Given the description of an element on the screen output the (x, y) to click on. 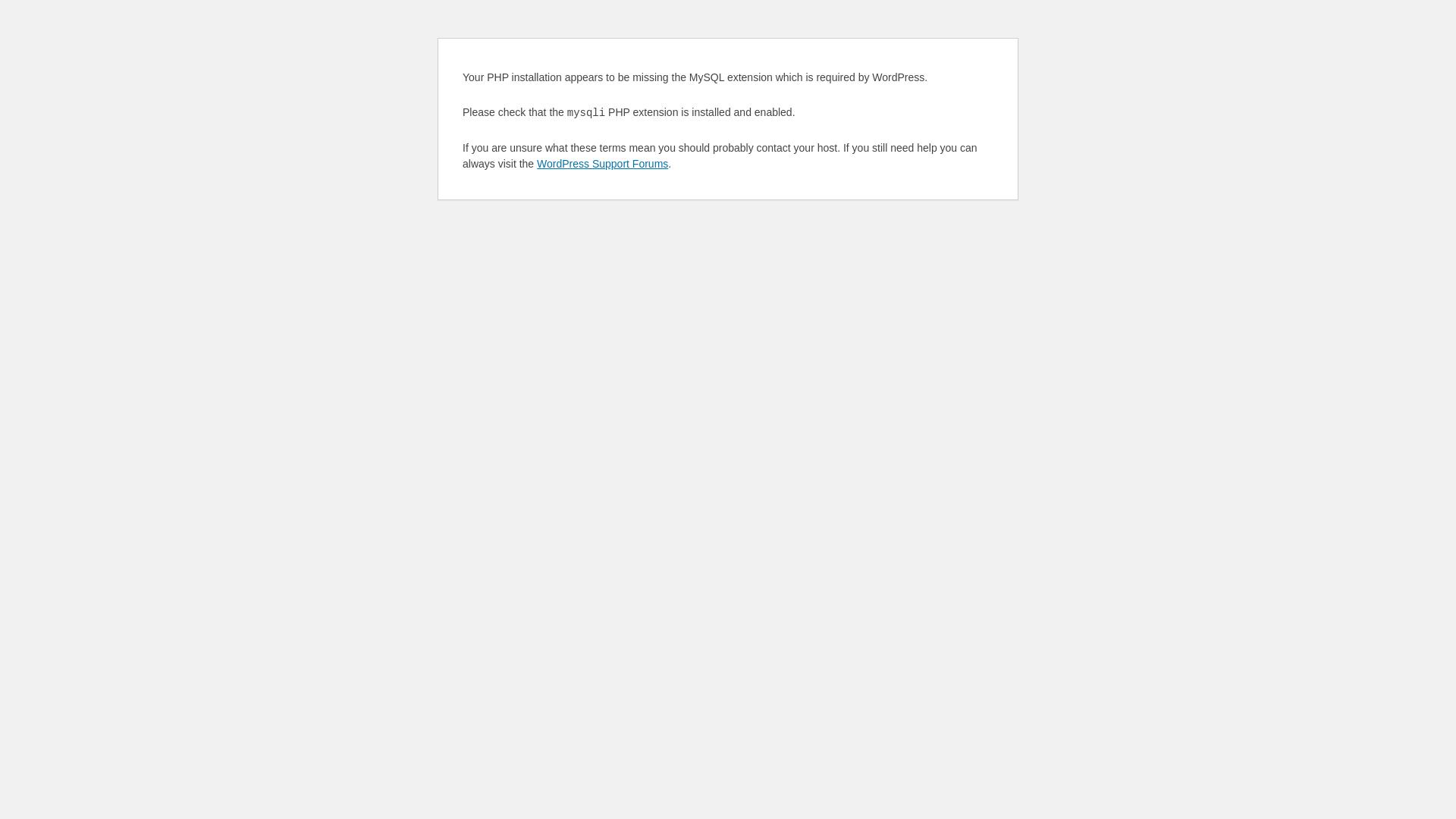
WordPress Support Forums Element type: text (602, 163)
